Given the description of an element on the screen output the (x, y) to click on. 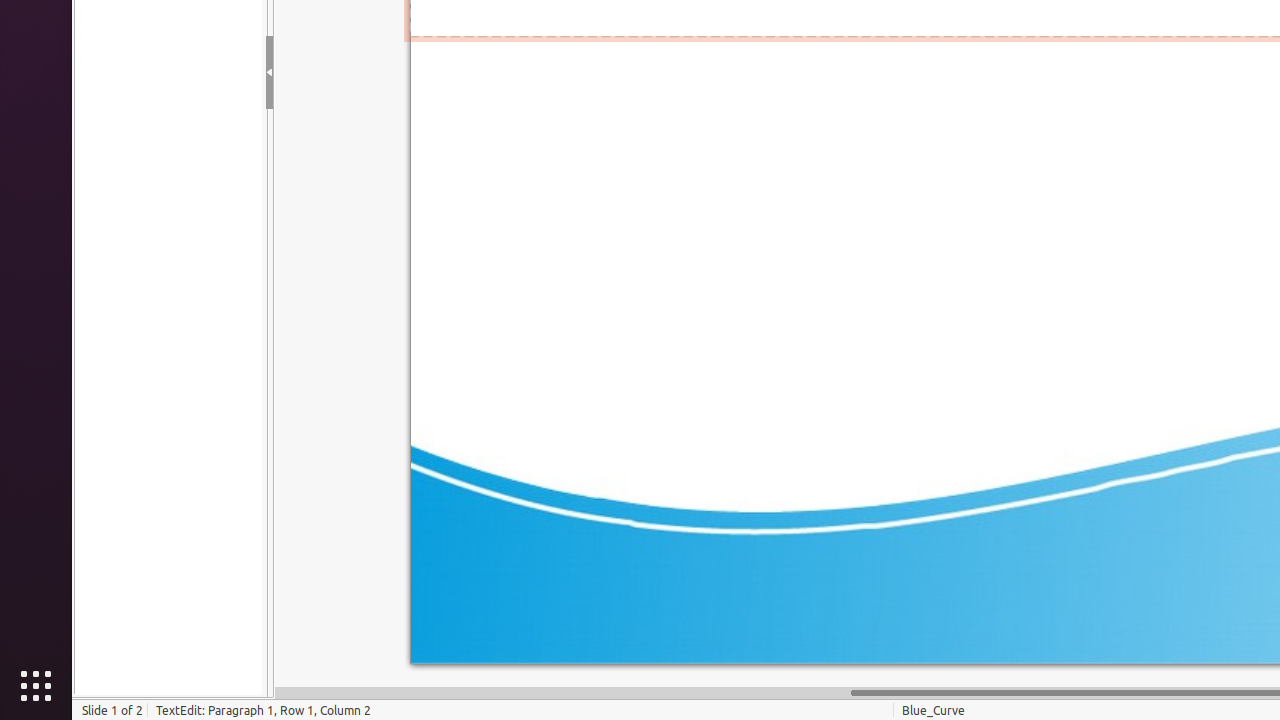
Show Applications Element type: toggle-button (36, 686)
